Given the description of an element on the screen output the (x, y) to click on. 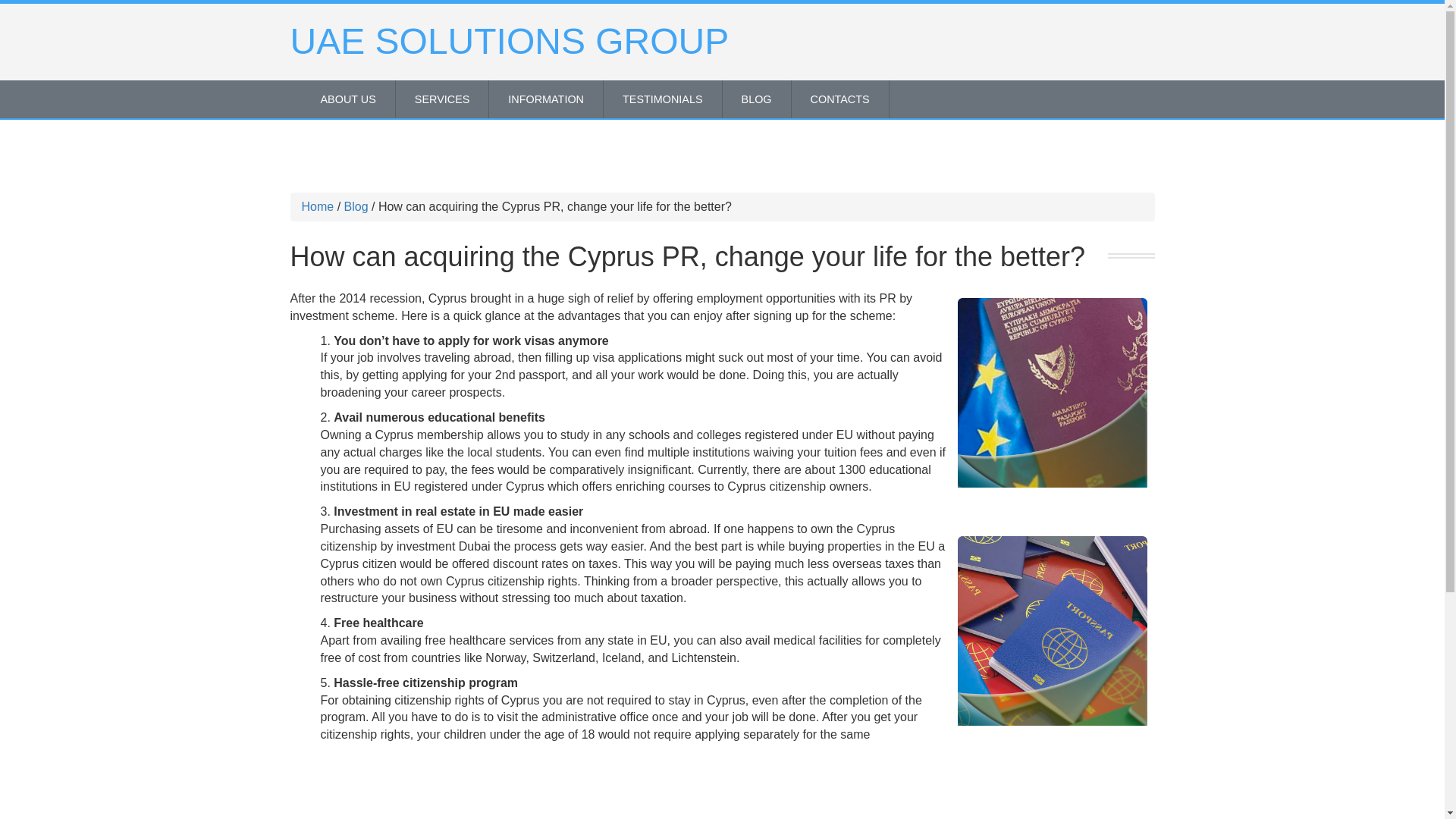
SERVICES (442, 98)
Mahandru Associates (1051, 630)
Home (317, 205)
BLOG (756, 98)
UAE SOLUTIONS GROUP (509, 41)
Blog (355, 205)
INFORMATION (545, 98)
Acquiring Cyprus PR by Investment (1051, 392)
CONTACTS (840, 98)
TESTIMONIALS (663, 98)
ABOUT US (347, 98)
